Given the description of an element on the screen output the (x, y) to click on. 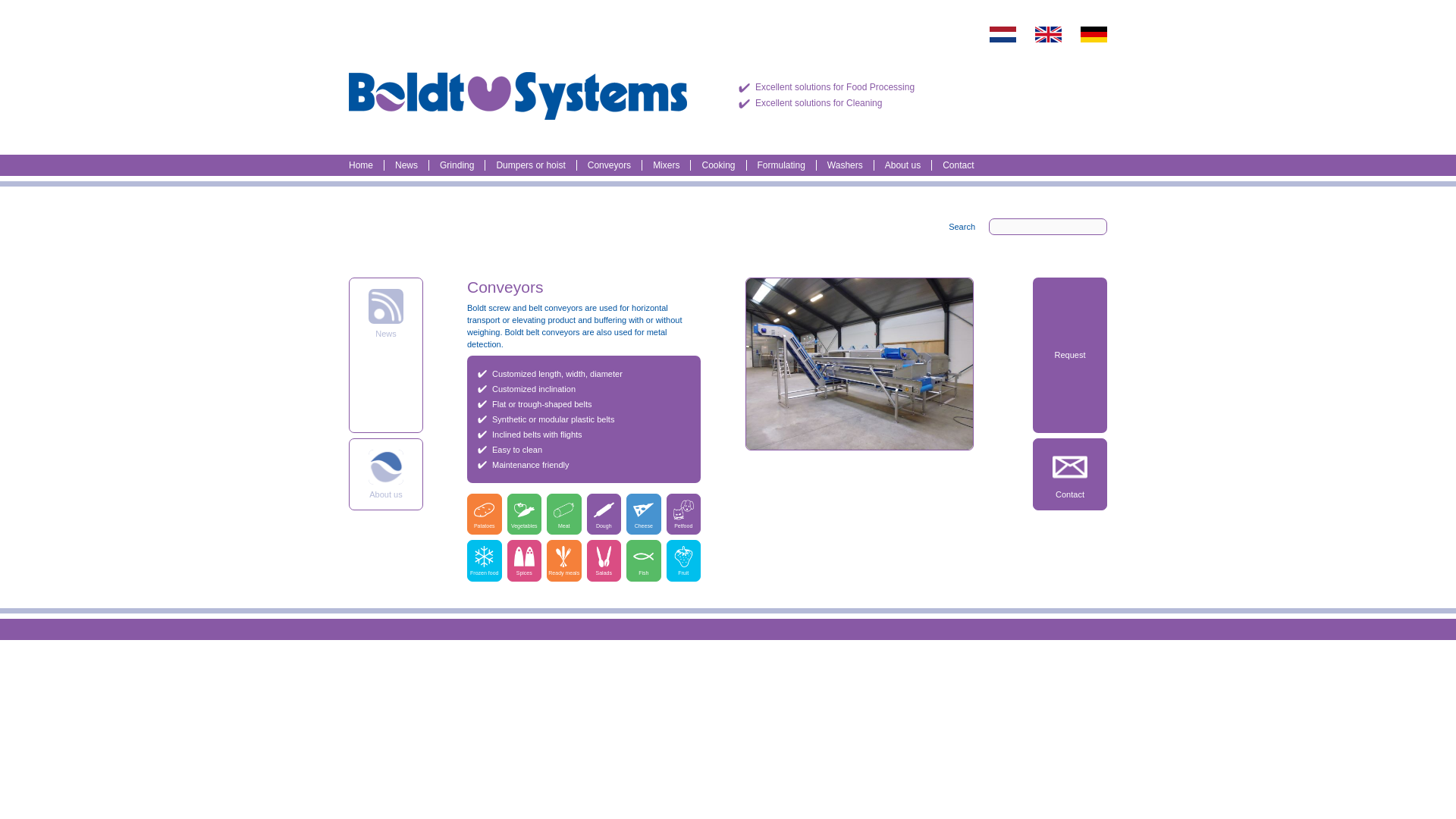
Conveyors (609, 164)
Grinding (456, 164)
Frozen food (484, 556)
Mixers (665, 164)
News (405, 164)
Washers (845, 164)
About us (385, 466)
Formulating (781, 164)
About us (386, 474)
Contact (958, 164)
Cooking (718, 164)
News (385, 306)
Dumpers or hoist (530, 164)
About us (902, 164)
Dough (604, 509)
